Given the description of an element on the screen output the (x, y) to click on. 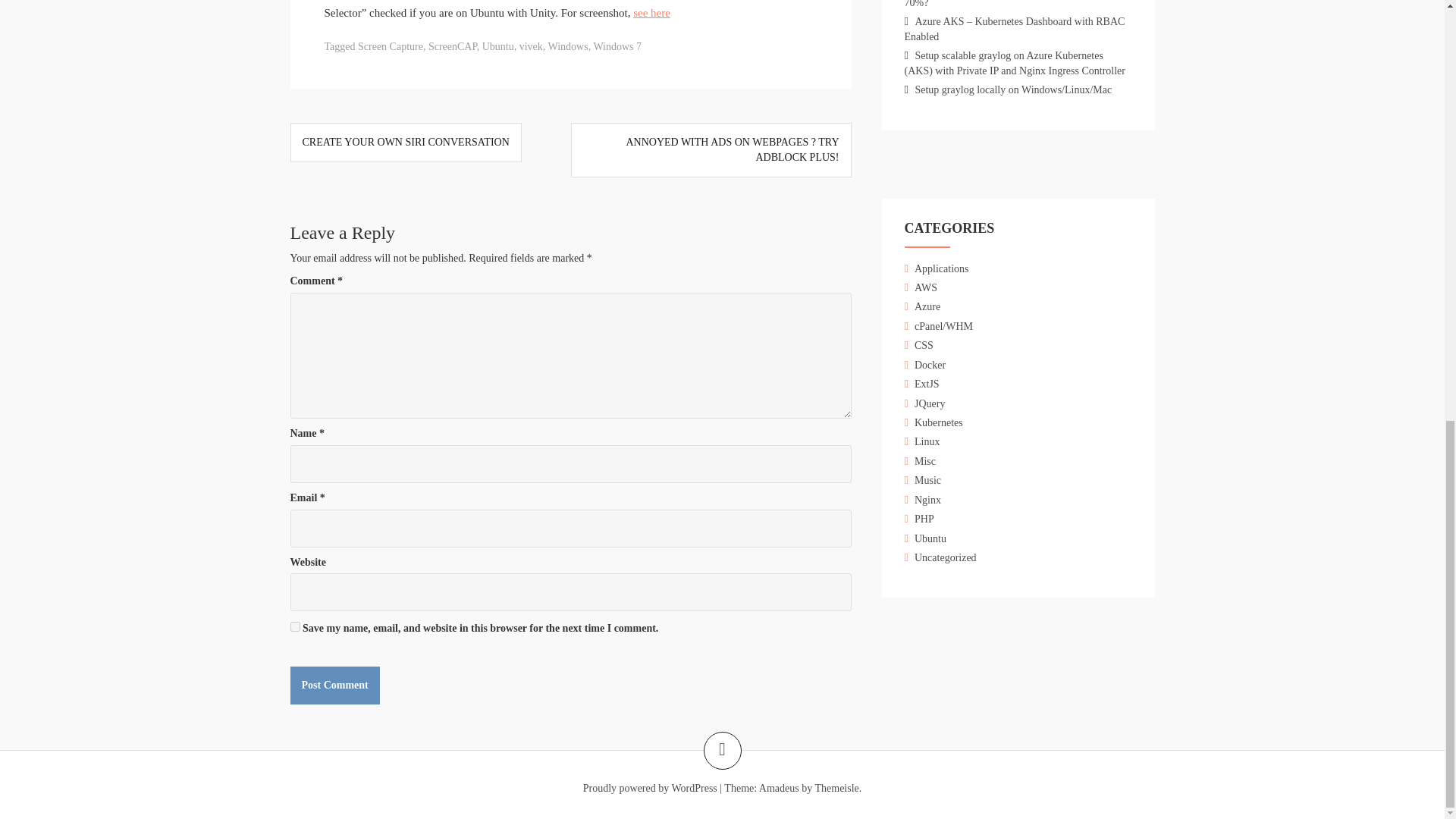
Applications (941, 268)
Misc (925, 460)
AWS (925, 287)
Kubernetes (938, 422)
Windows (568, 46)
Post Comment (333, 685)
Docker (929, 365)
ExtJS (926, 383)
Music (927, 480)
Ubuntu (497, 46)
